Given the description of an element on the screen output the (x, y) to click on. 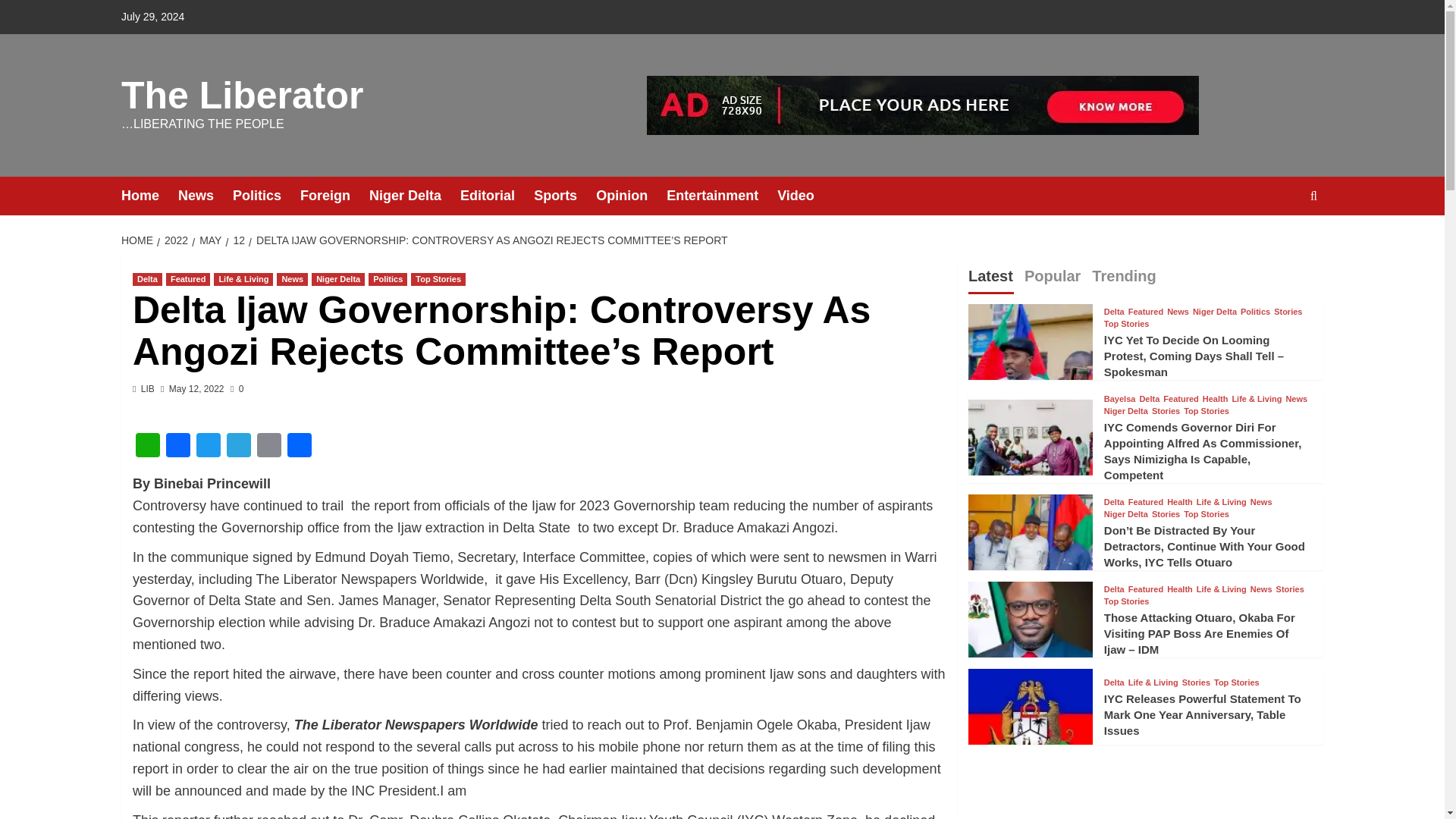
Politics (265, 195)
Telegram (238, 447)
Niger Delta (414, 195)
May 12, 2022 (196, 388)
Twitter (208, 447)
Facebook (178, 447)
Foreign (334, 195)
Sports (564, 195)
Politics (387, 278)
LIB (147, 388)
Search (1278, 243)
0 (236, 388)
Email (268, 447)
Entertainment (721, 195)
Featured (187, 278)
